Given the description of an element on the screen output the (x, y) to click on. 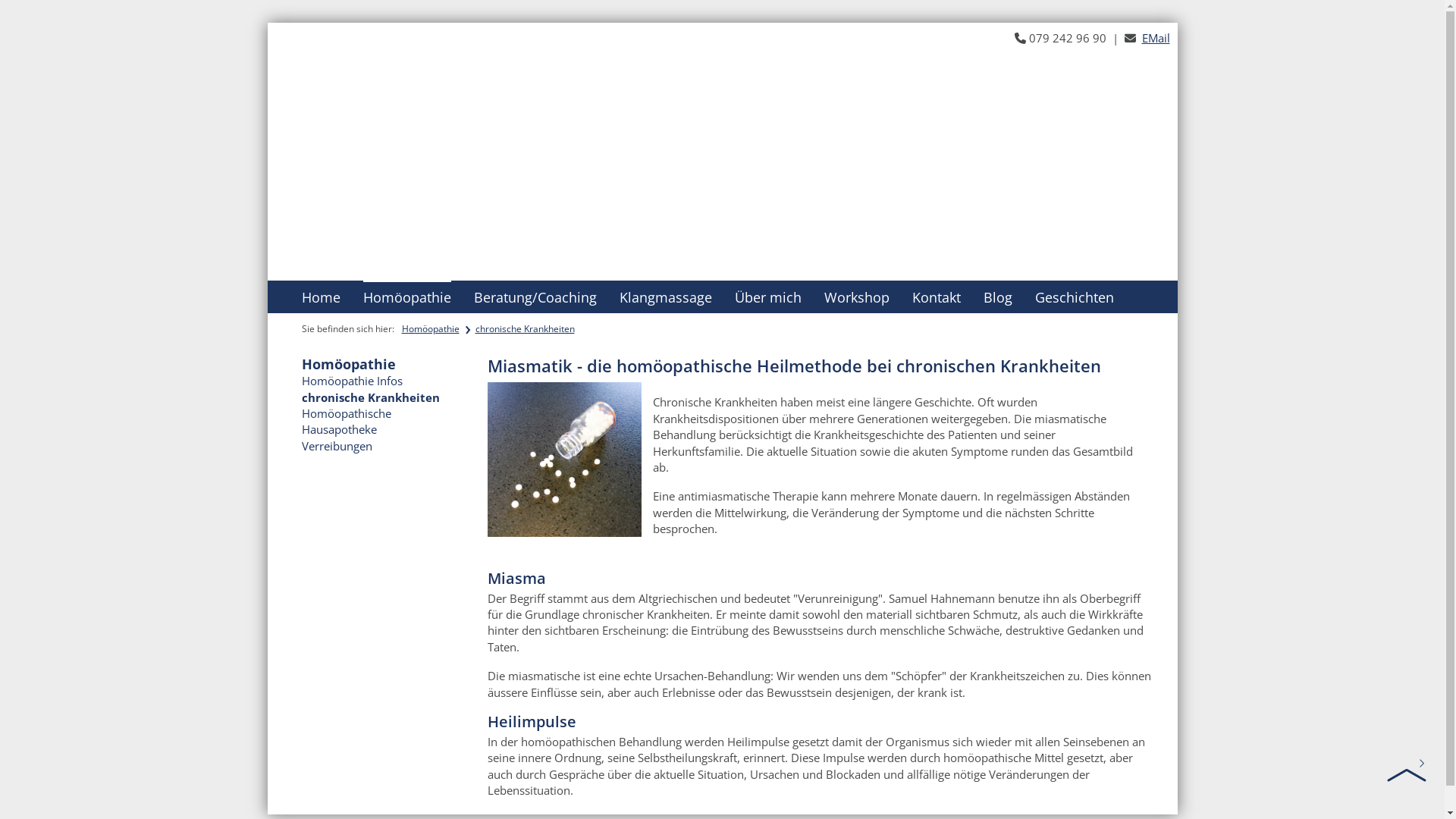
EMail Element type: text (1156, 37)
Klangmassage Element type: text (664, 296)
chronische Krankheiten Element type: text (524, 328)
Blog Element type: text (996, 296)
Verreibungen Element type: text (336, 445)
chronische Krankheiten Element type: text (370, 396)
Beratung/Coaching Element type: text (534, 296)
Geschichten Element type: text (1073, 296)
Workshop Element type: text (855, 296)
Home Element type: text (320, 296)
Kontakt Element type: text (935, 296)
